Given the description of an element on the screen output the (x, y) to click on. 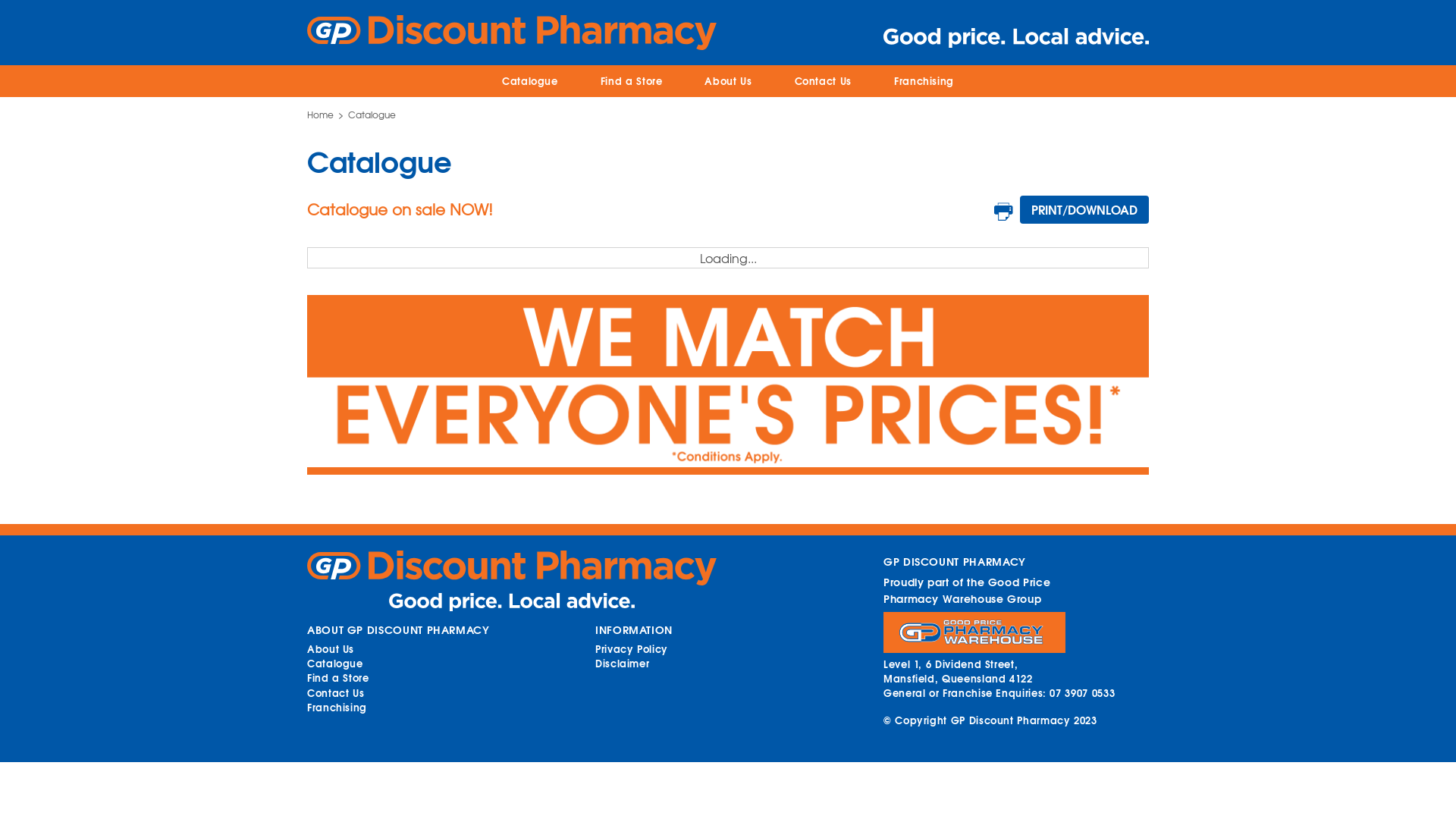
Contact Us Element type: text (335, 691)
we-match-prices Element type: hover (727, 384)
Home Element type: text (320, 114)
Catalogue Element type: text (335, 662)
Find a Store Element type: text (338, 676)
07 3907 0533 Element type: text (1081, 691)
Find a Store Element type: text (631, 80)
Franchising Element type: text (337, 706)
Contact Us Element type: text (822, 80)
Privacy Policy Element type: text (631, 647)
Disclaimer Element type: text (622, 662)
GP Discount Pharmacy Element type: hover (511, 567)
About Us Element type: text (330, 647)
PRINT/DOWNLOAD Element type: text (1083, 209)
Franchising Element type: text (924, 80)
About Us Element type: text (727, 80)
Catalogue Element type: text (529, 80)
GP Discount Pharmacy Element type: hover (511, 28)
